Given the description of an element on the screen output the (x, y) to click on. 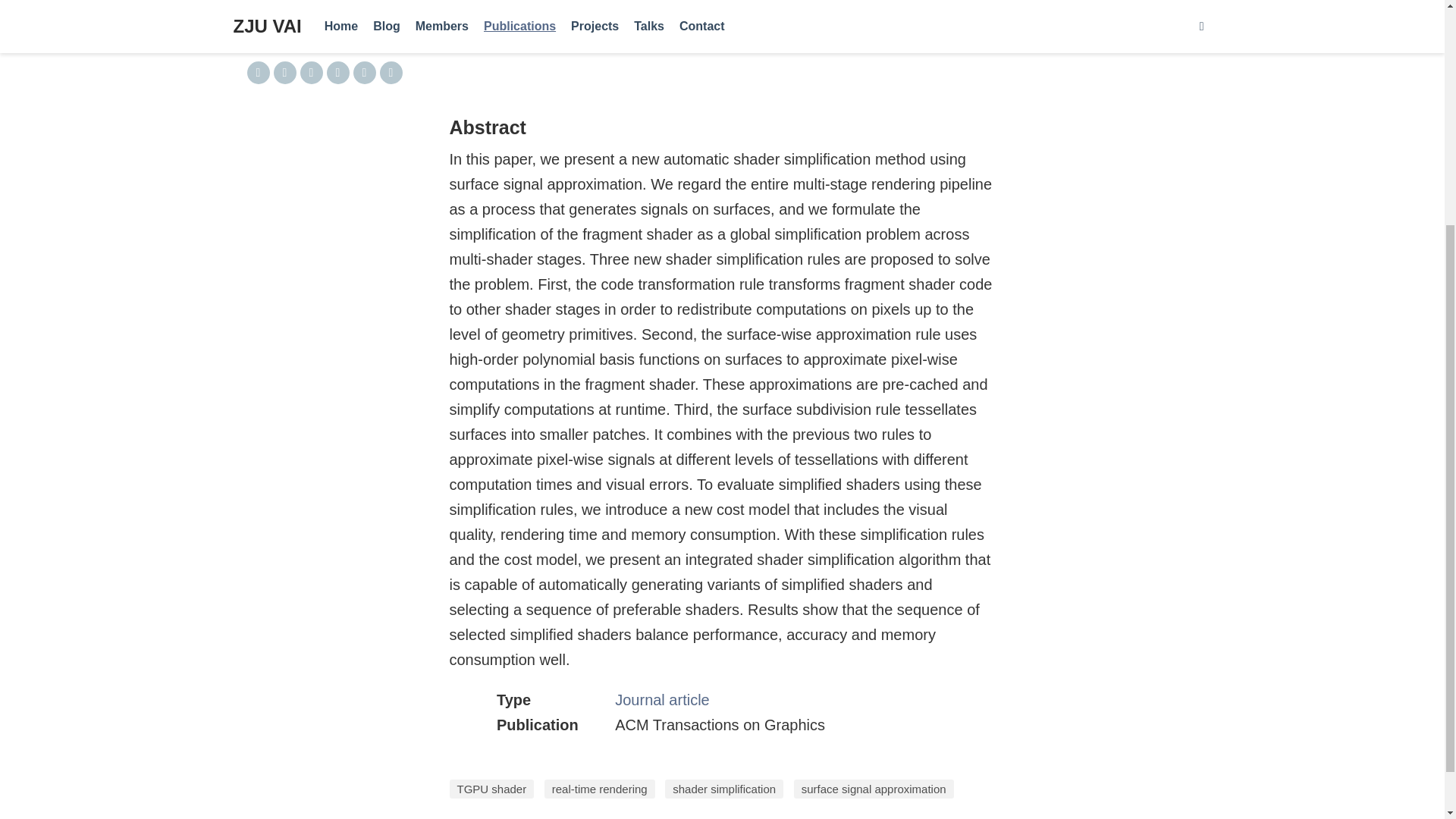
DOI (361, 31)
real-time rendering (599, 788)
Journal article (662, 699)
Cite (314, 31)
PDF (267, 31)
shader simplification (724, 788)
TGPU shader (491, 788)
surface signal approximation (873, 788)
